Given the description of an element on the screen output the (x, y) to click on. 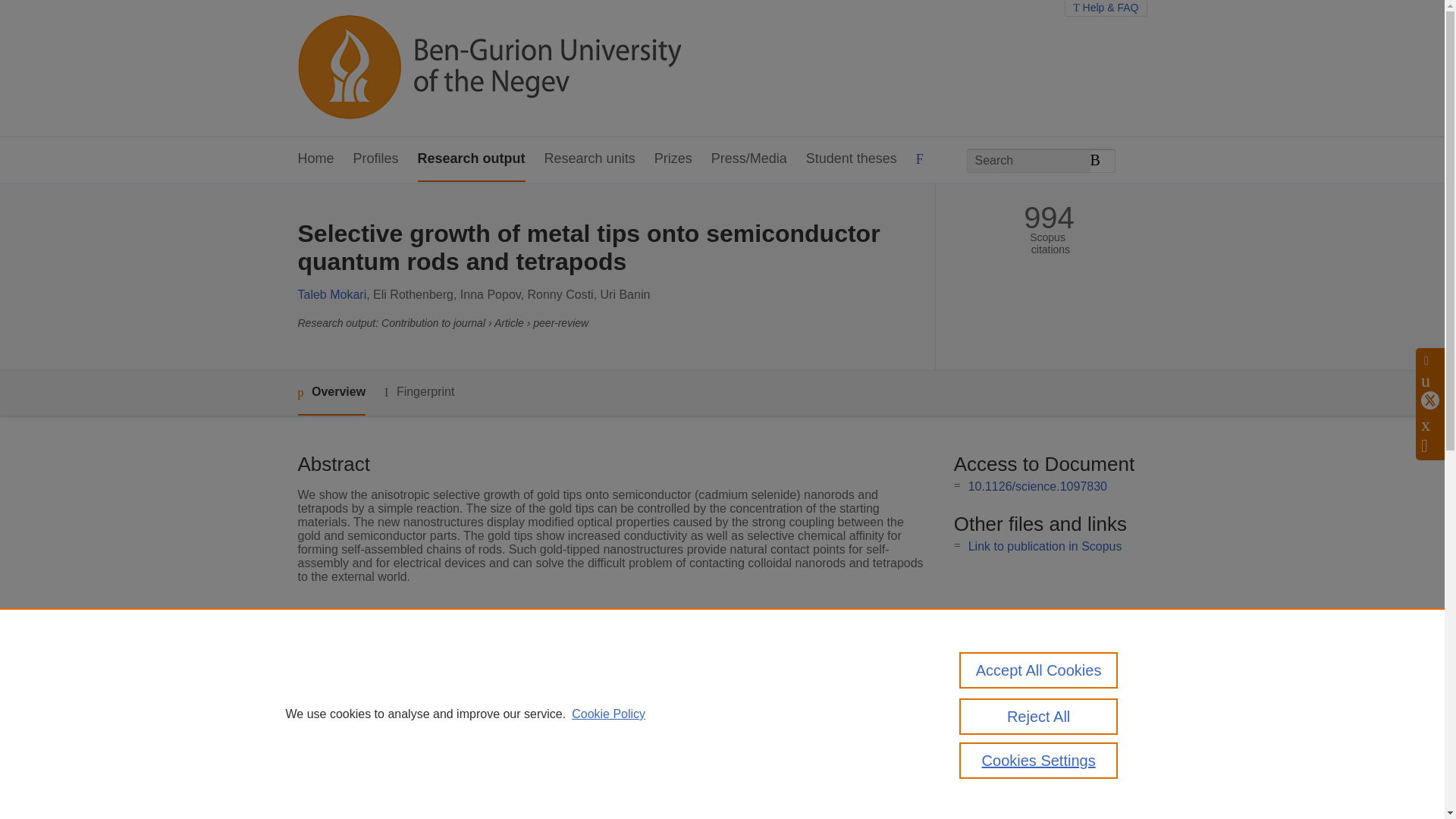
Overview (331, 393)
Fingerprint (419, 392)
Research output (471, 159)
Student theses (851, 159)
Science (533, 667)
Home (315, 159)
Profiles (375, 159)
Taleb Mokari (331, 294)
Link to publication in Scopus (1045, 545)
Research units (589, 159)
Ben-Gurion University Research Portal Home (489, 68)
Prizes (673, 159)
